Given the description of an element on the screen output the (x, y) to click on. 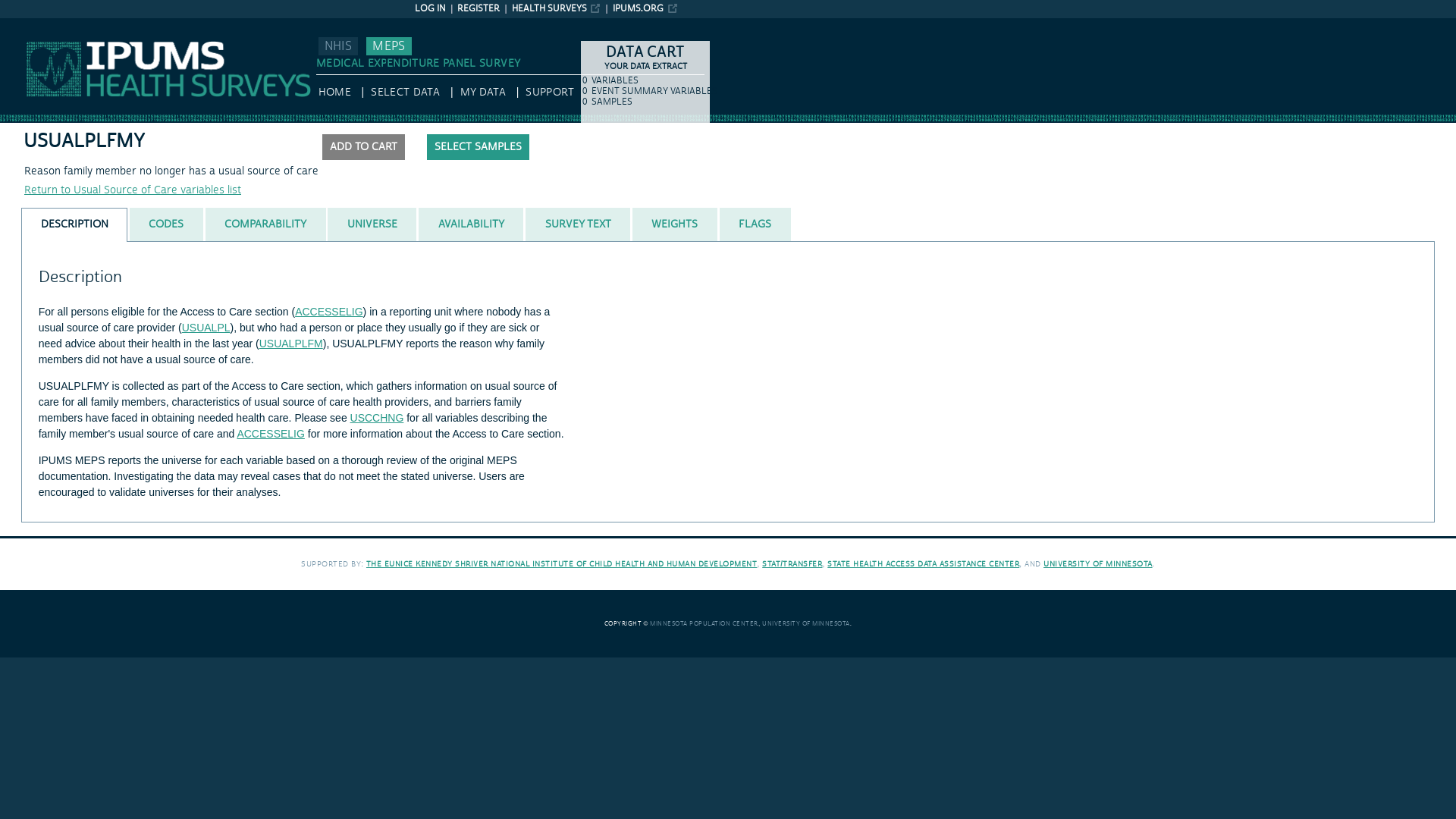
REGISTER (478, 8)
AVAILABILITY (470, 224)
IPUMS MEPS (32, 24)
SELECT SAMPLES (477, 146)
LOG IN (429, 8)
SUPPORT (549, 92)
USUALPL (206, 327)
COMPARABILITY (265, 224)
UNIVERSITY OF MINNESOTA (1098, 563)
UNIVERSITY OF MINNESOTA (805, 623)
MINNESOTA POPULATION CENTER (703, 623)
HOME (334, 92)
USUALPLFM (291, 343)
HEALTH SURVEYS (556, 8)
